Given the description of an element on the screen output the (x, y) to click on. 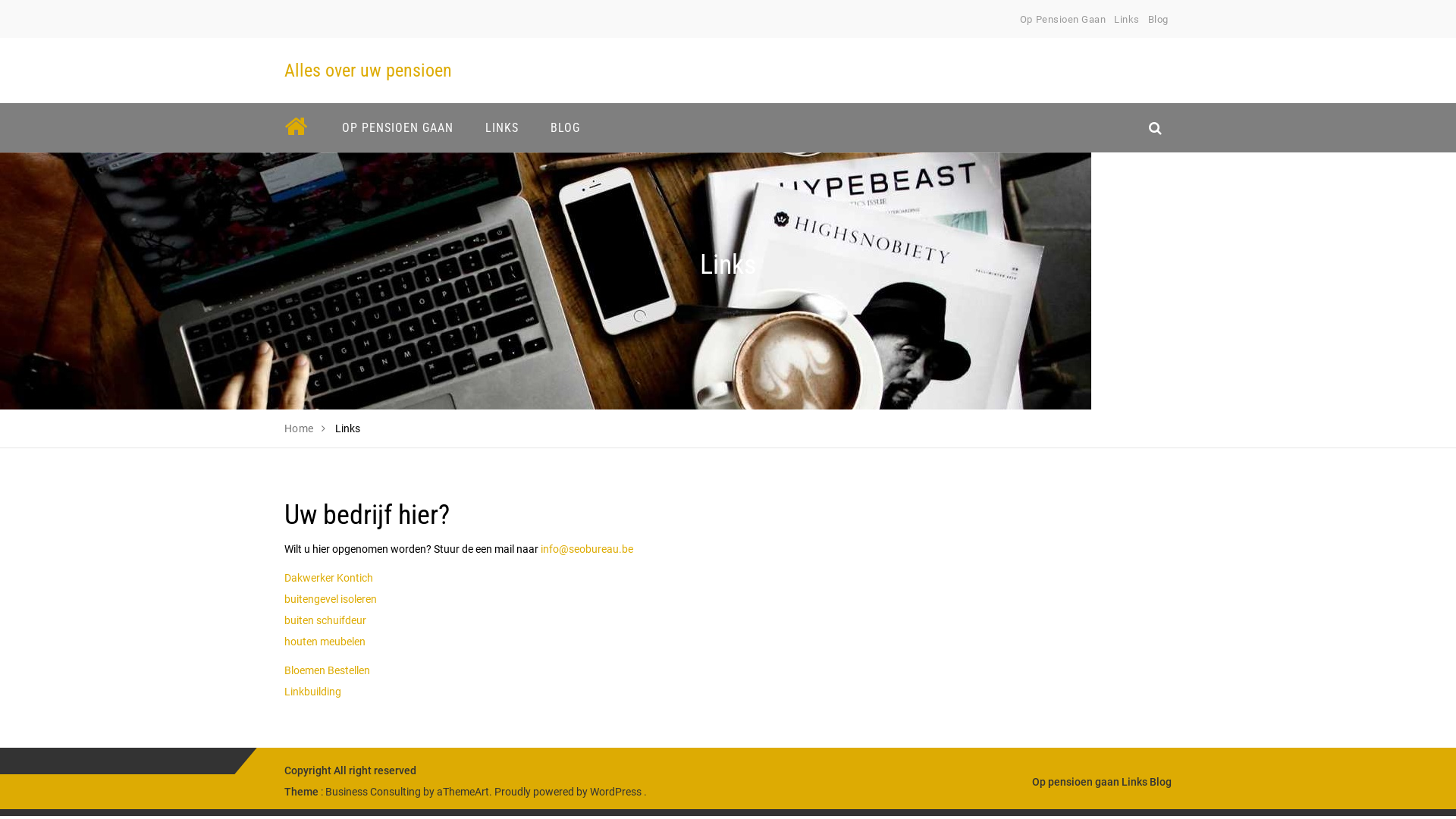
info@seobureau.be Element type: text (586, 548)
buiten schuifdeur Element type: text (325, 620)
OP PENSIOEN GAAN Element type: text (397, 127)
Links Element type: text (1134, 781)
search_icon Element type: hover (1155, 127)
Alles over uw pensioen Element type: text (367, 70)
Home Element type: text (298, 428)
BLOG Element type: text (564, 127)
Linkbuilding Element type: text (312, 691)
Op pensioen gaan Element type: text (1075, 781)
LINKS Element type: text (501, 127)
houten meubelen Element type: text (324, 641)
Theme Element type: text (301, 791)
Blog Element type: text (1158, 19)
Bloemen Bestellen Element type: text (327, 670)
Links Element type: text (1126, 19)
Blog Element type: text (1160, 781)
Op Pensioen Gaan Element type: text (1062, 19)
Dakwerker Kontich Element type: text (328, 577)
buitengevel isoleren Element type: text (330, 599)
